Given the description of an element on the screen output the (x, y) to click on. 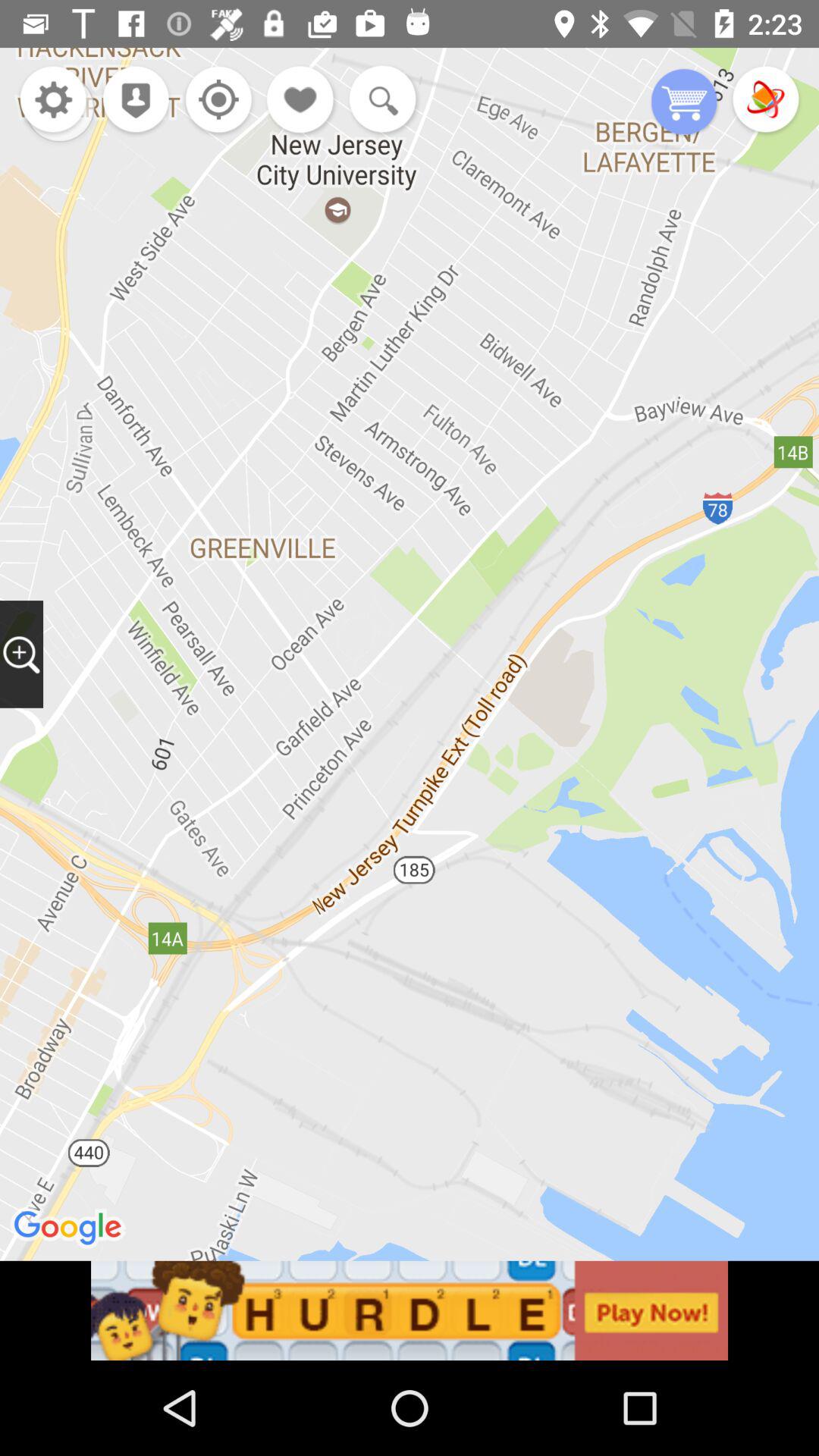
option (214, 101)
